Given the description of an element on the screen output the (x, y) to click on. 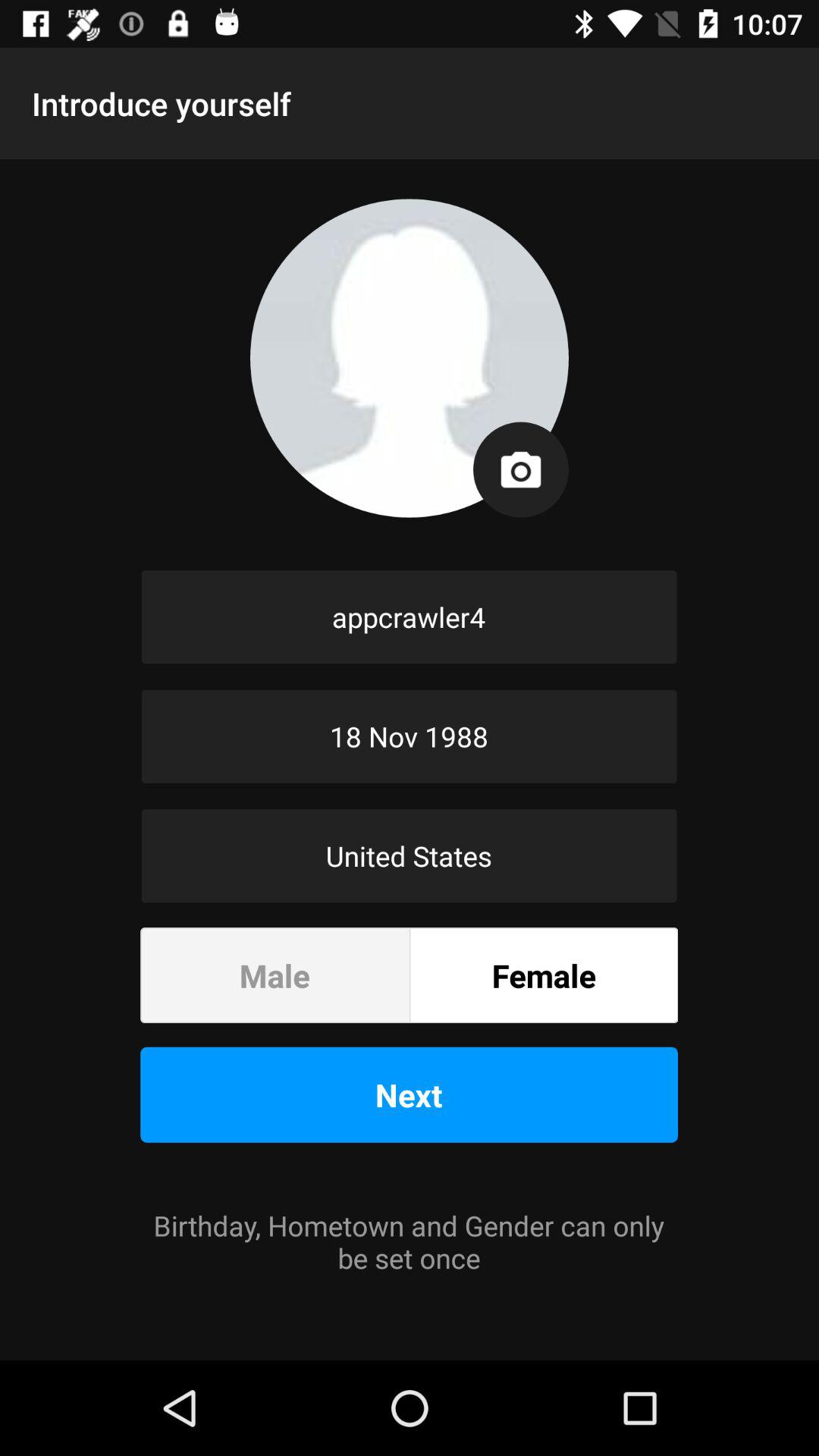
turn off item next to male (543, 975)
